Given the description of an element on the screen output the (x, y) to click on. 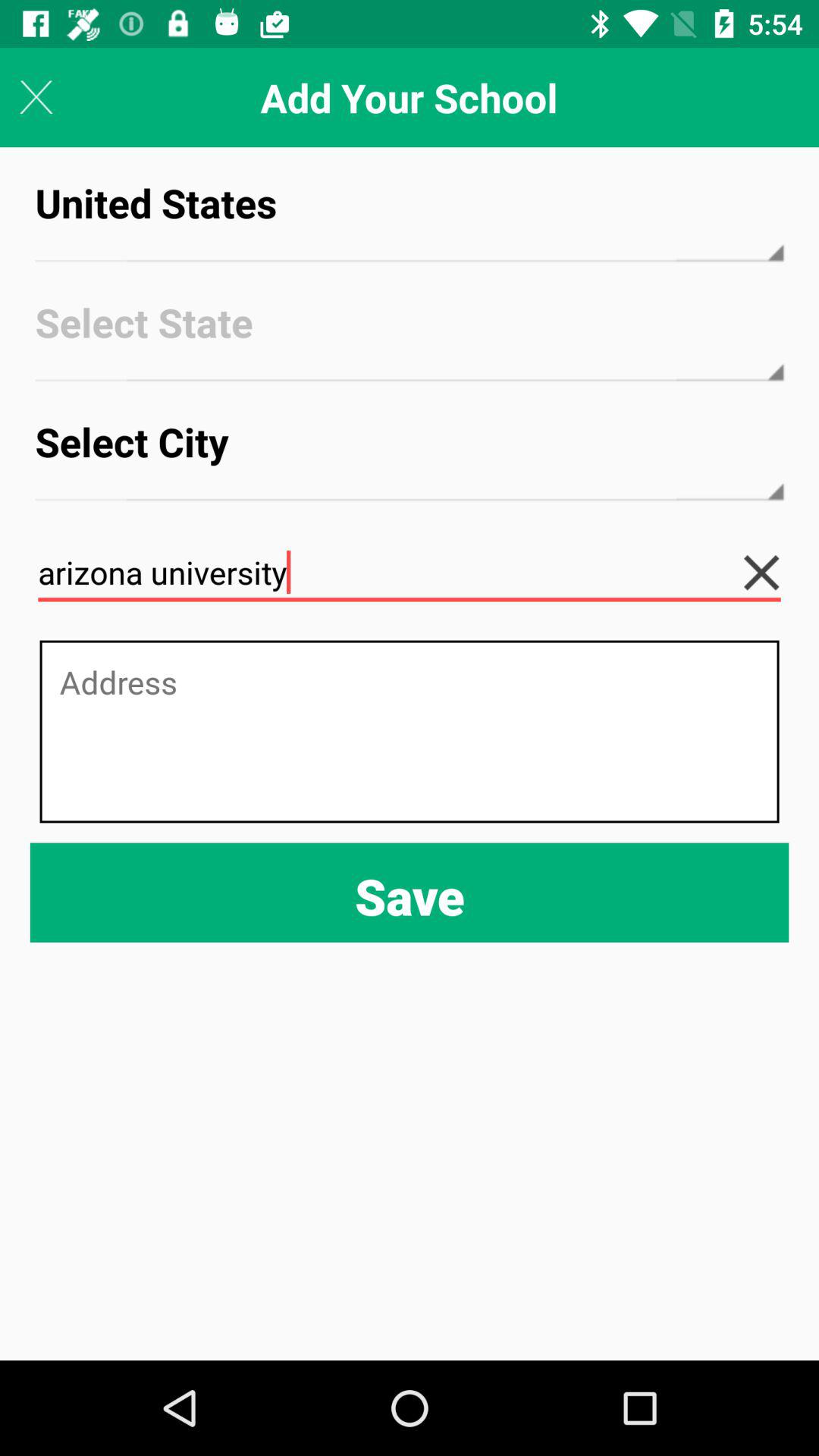
click the icon below the select city (773, 572)
